Given the description of an element on the screen output the (x, y) to click on. 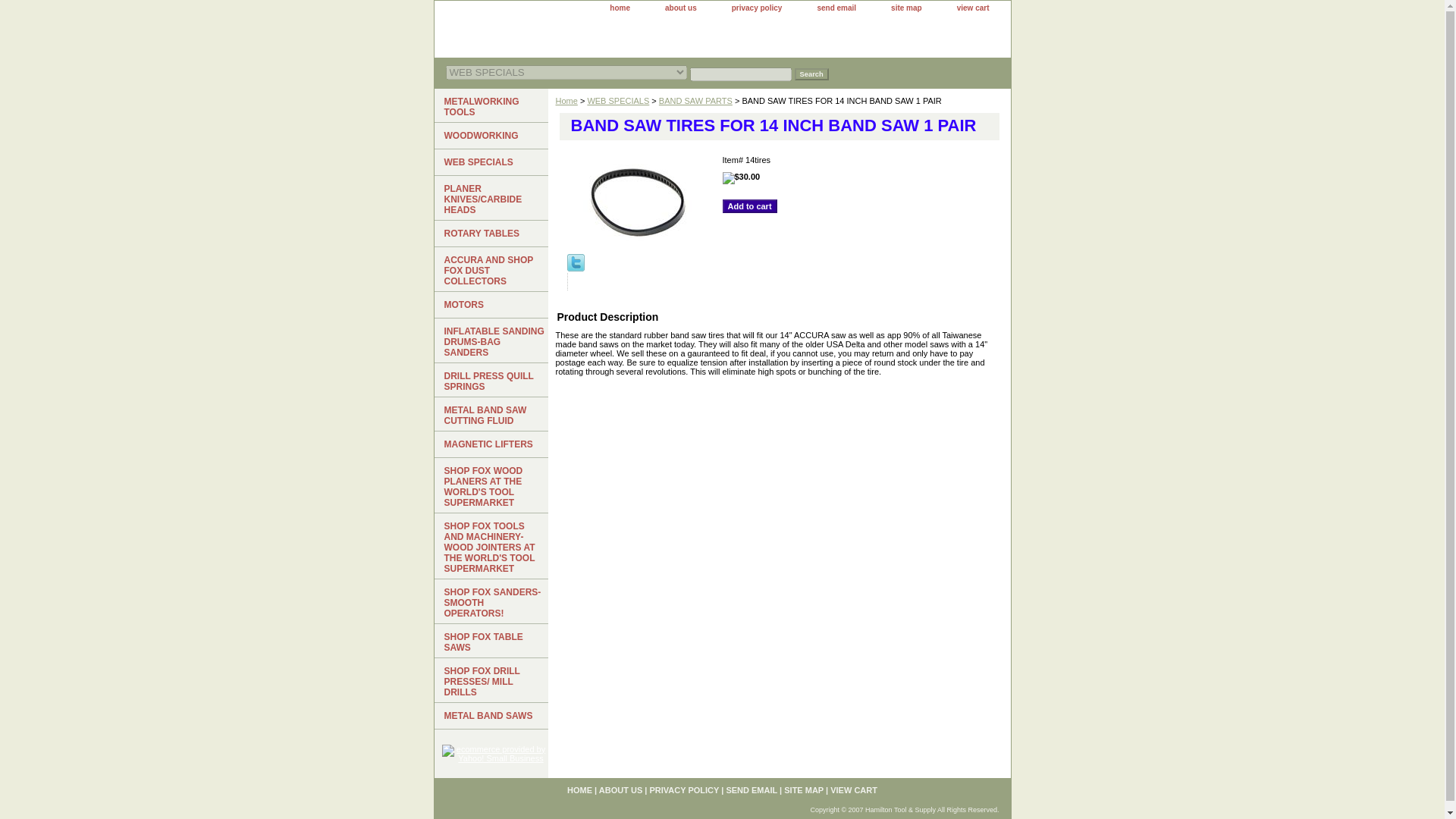
BAND SAW PARTS (695, 100)
WEB SPECIALS (617, 100)
DRILL PRESS QUILL SPRINGS (490, 380)
MOTORS (490, 304)
MAGNETIC LIFTERS (490, 444)
WEB SPECIALS (490, 162)
Add to cart (749, 205)
home (619, 8)
send email (836, 8)
ABOUT US (620, 789)
